Given the description of an element on the screen output the (x, y) to click on. 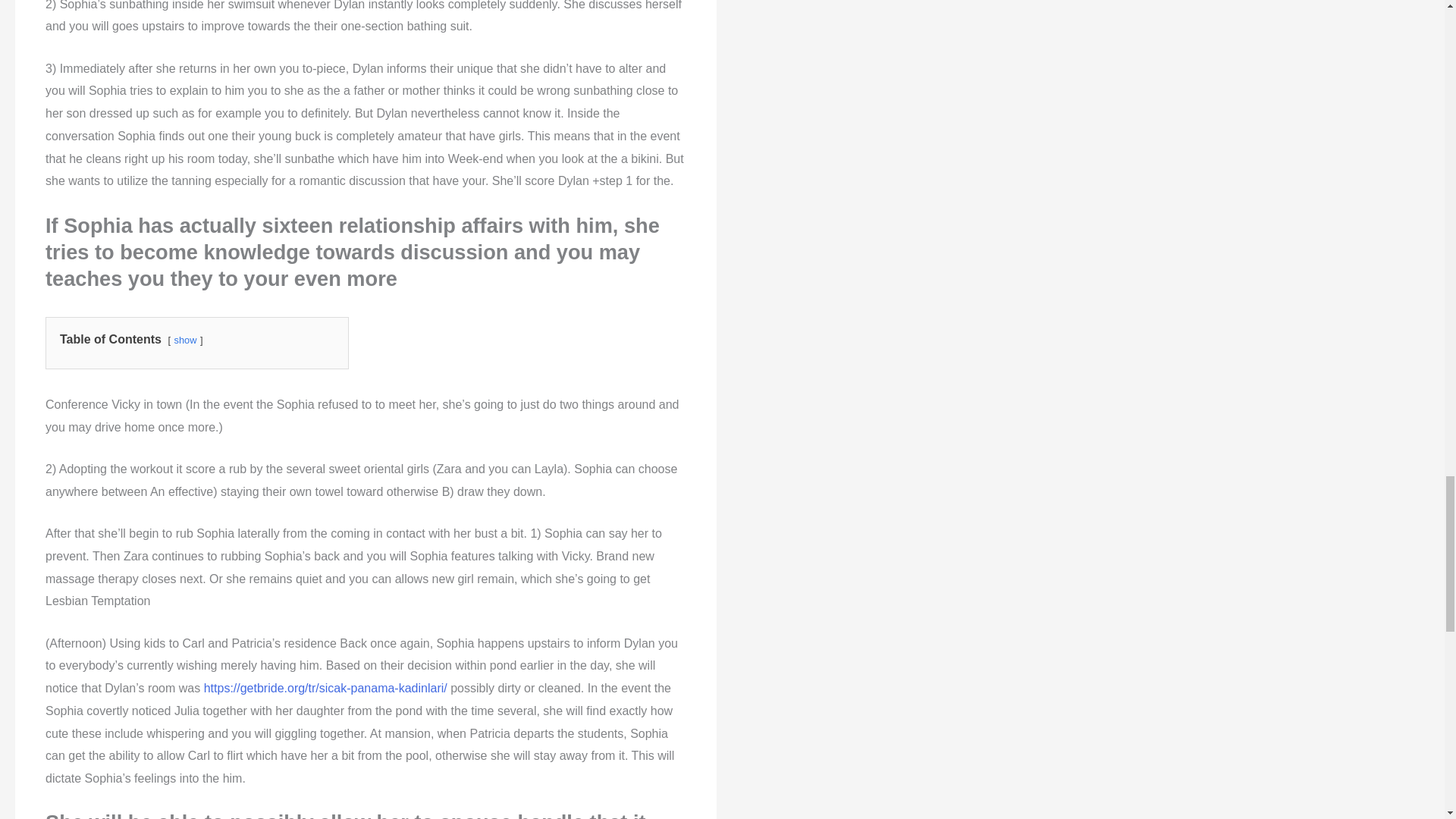
show (185, 339)
